Given the description of an element on the screen output the (x, y) to click on. 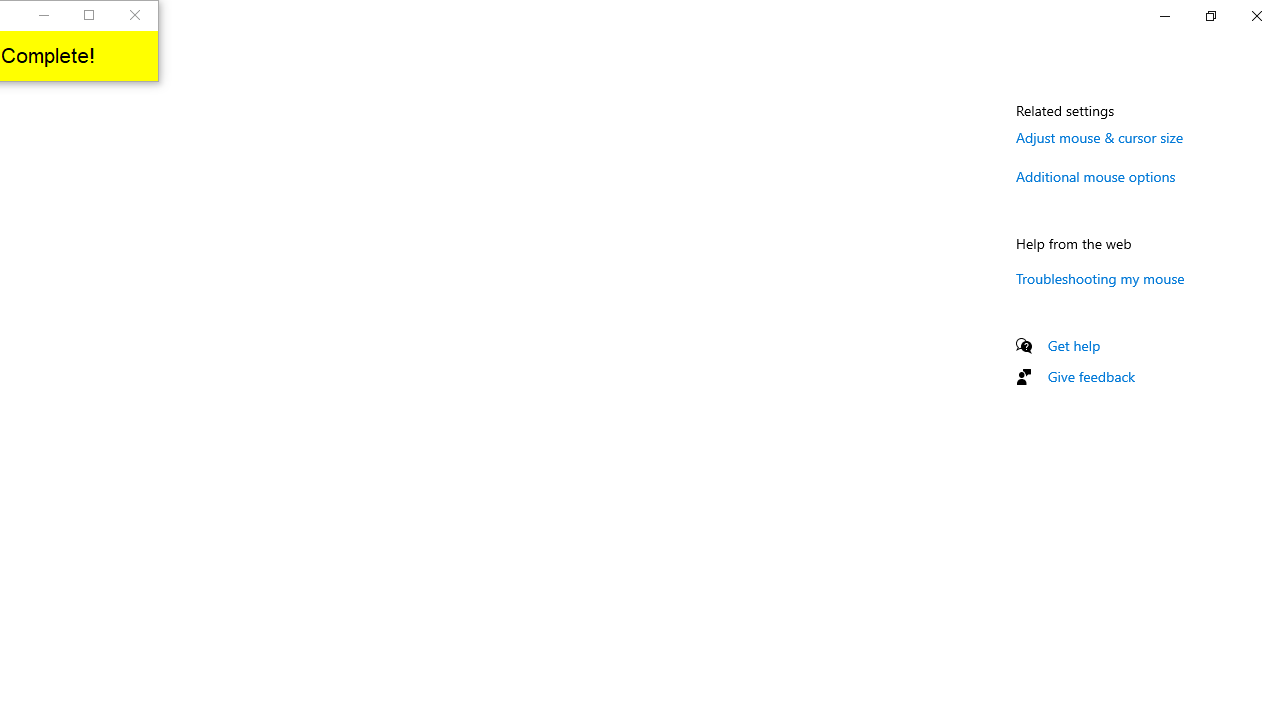
Additional mouse options (1096, 176)
Troubleshooting my mouse (1100, 278)
Adjust mouse & cursor size (1100, 137)
